Given the description of an element on the screen output the (x, y) to click on. 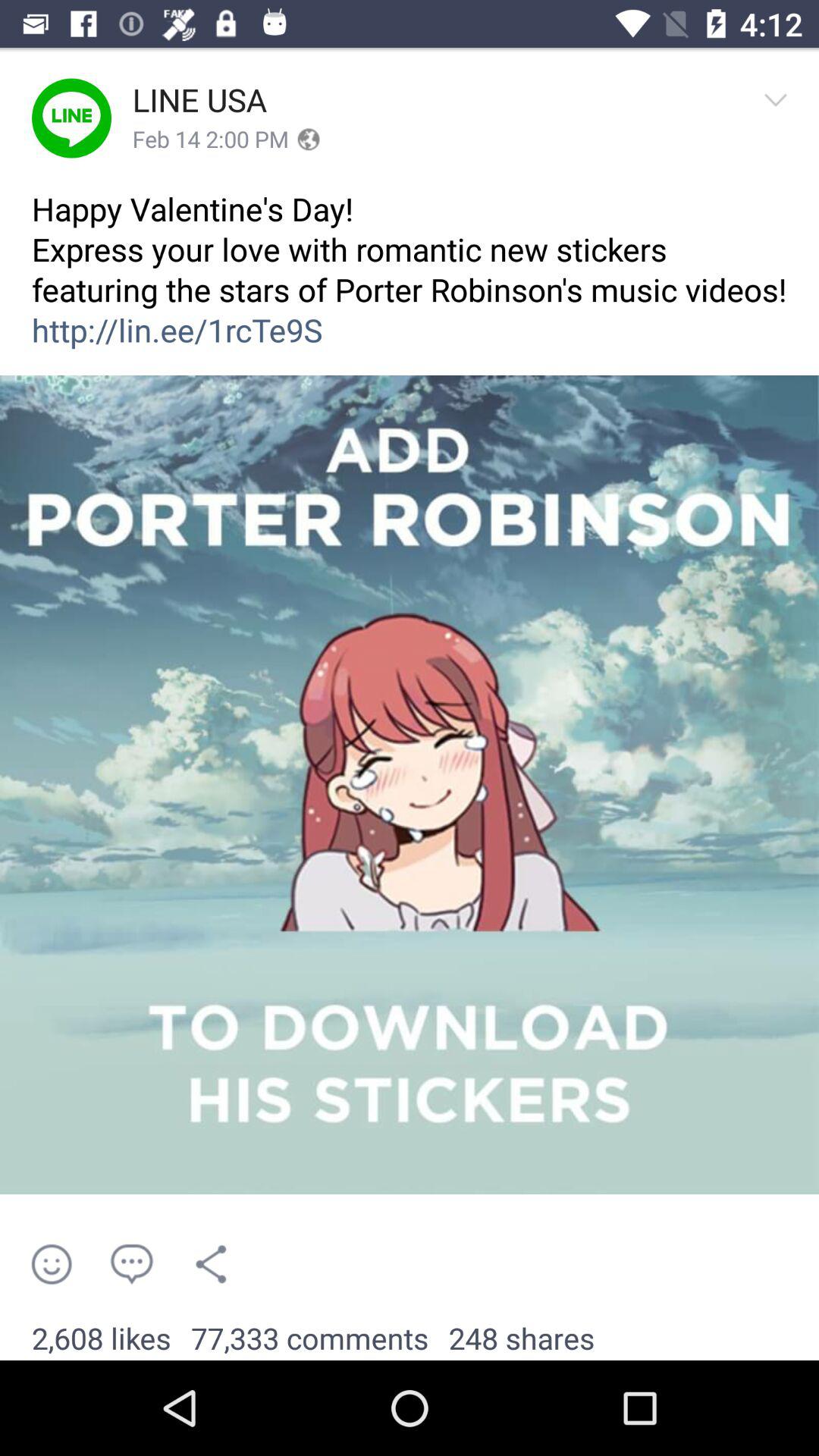
turn on item next to 2,608 likes item (309, 1339)
